Given the description of an element on the screen output the (x, y) to click on. 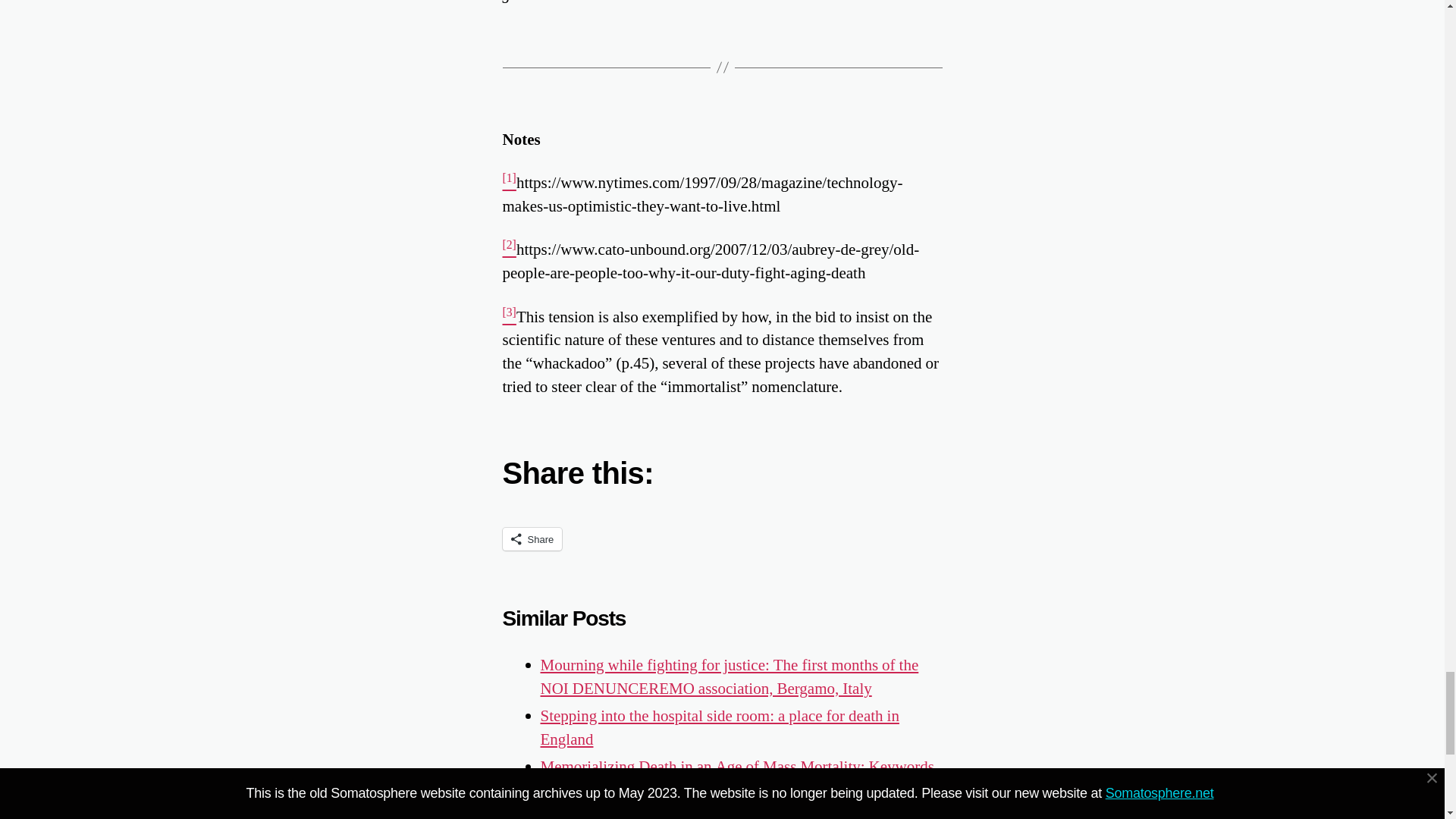
Share (532, 538)
